Given the description of an element on the screen output the (x, y) to click on. 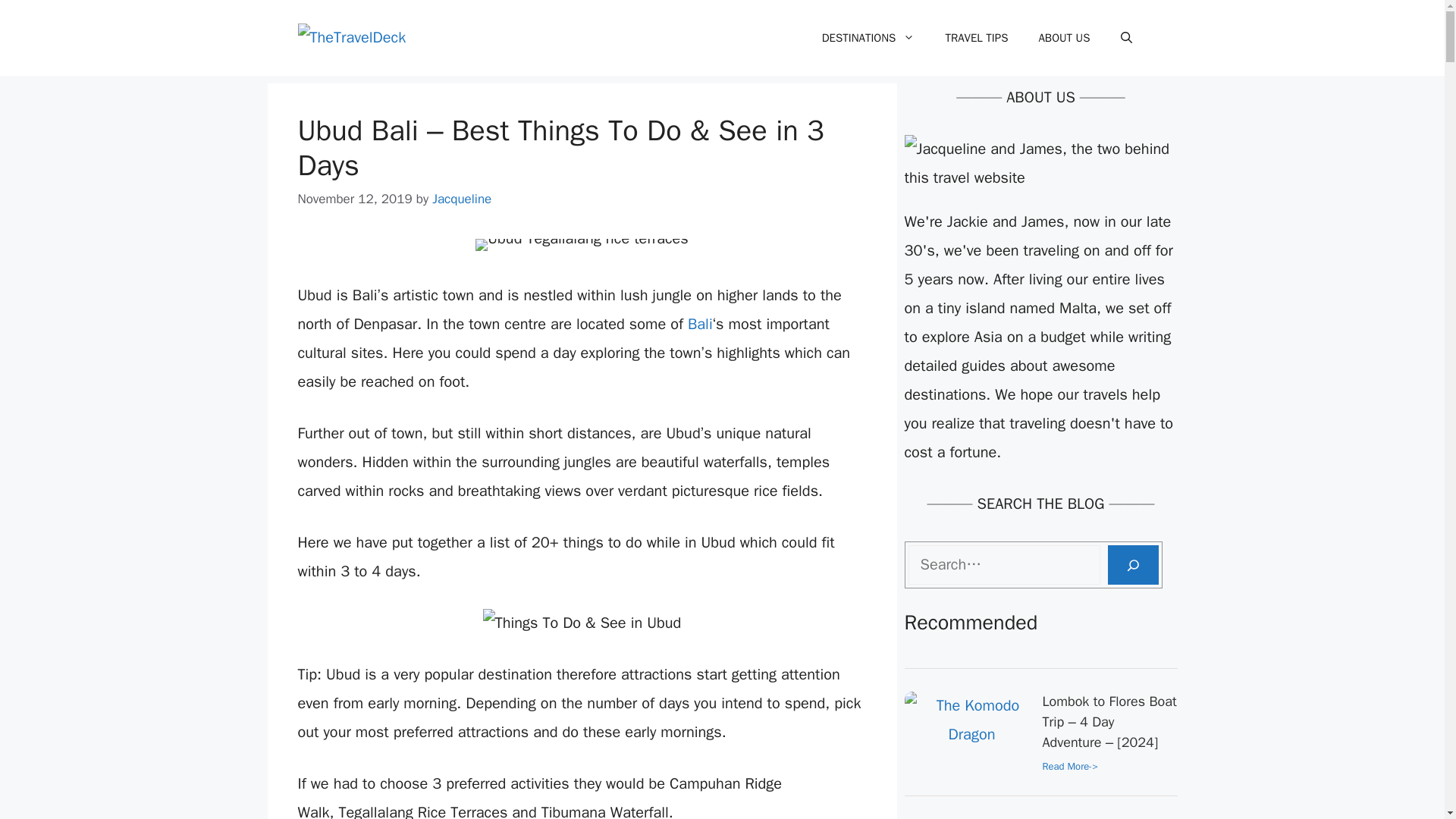
TRAVEL TIPS (976, 37)
Jacqueline (462, 198)
View all posts by Jacqueline (462, 198)
Bali (700, 323)
Us Jacqueline and James (1040, 163)
DESTINATIONS (868, 37)
ABOUT US (1064, 37)
